Given the description of an element on the screen output the (x, y) to click on. 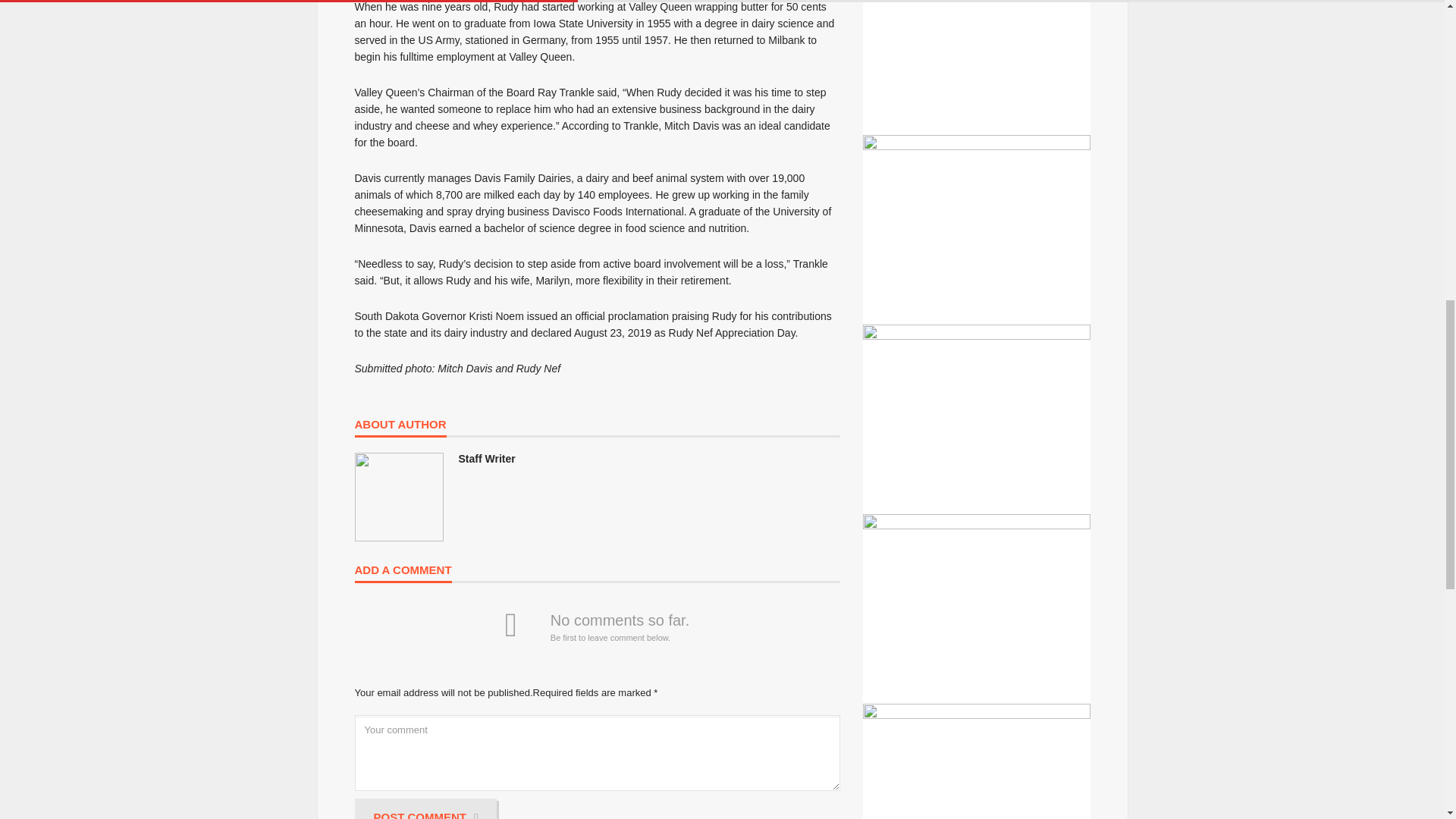
ADD A COMMENT (403, 573)
ABOUT AUTHOR (400, 427)
POST COMMENT (426, 808)
